Given the description of an element on the screen output the (x, y) to click on. 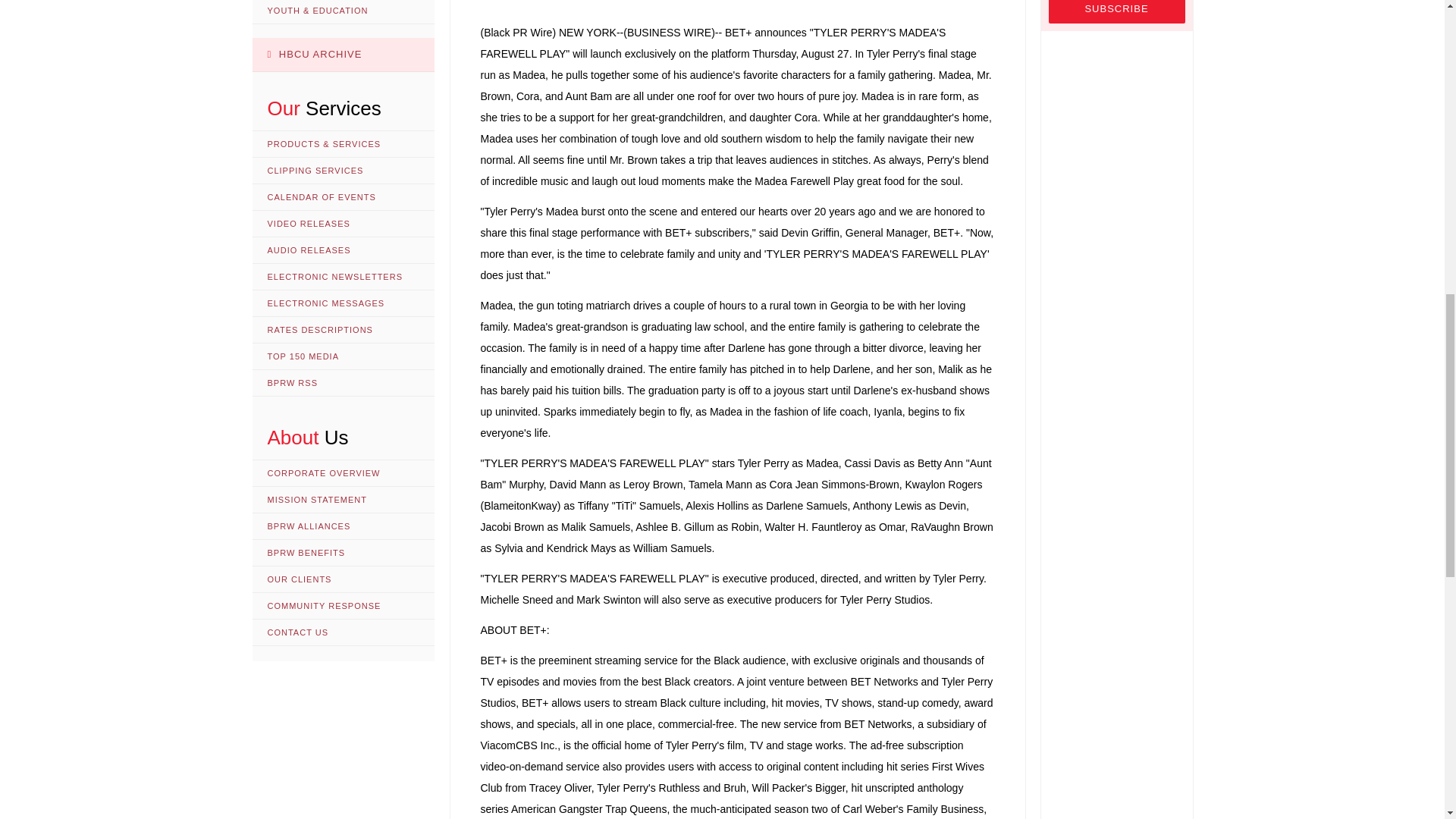
CALENDAR OF EVENTS (342, 197)
CLIPPING SERVICES (342, 171)
VIDEO RELEASES (342, 223)
AUDIO RELEASES (342, 250)
HBCU ARCHIVE (342, 54)
